Given the description of an element on the screen output the (x, y) to click on. 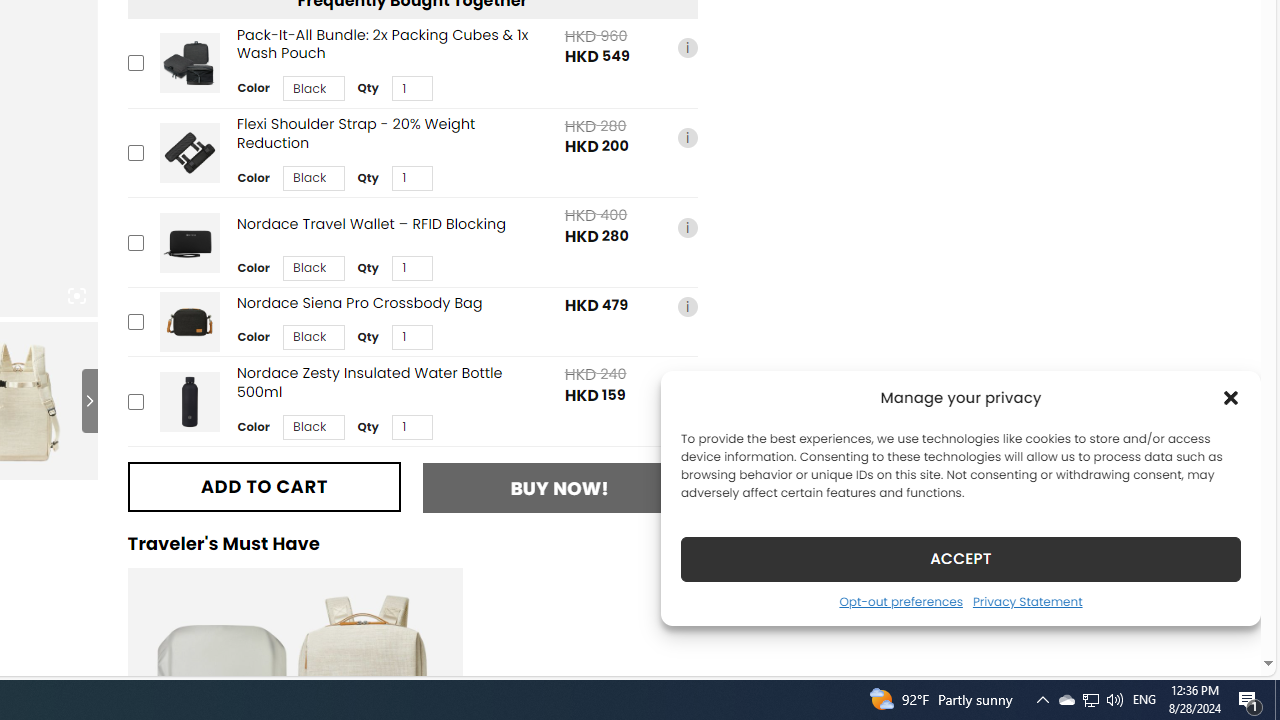
BUY NOW! (559, 488)
